Given the description of an element on the screen output the (x, y) to click on. 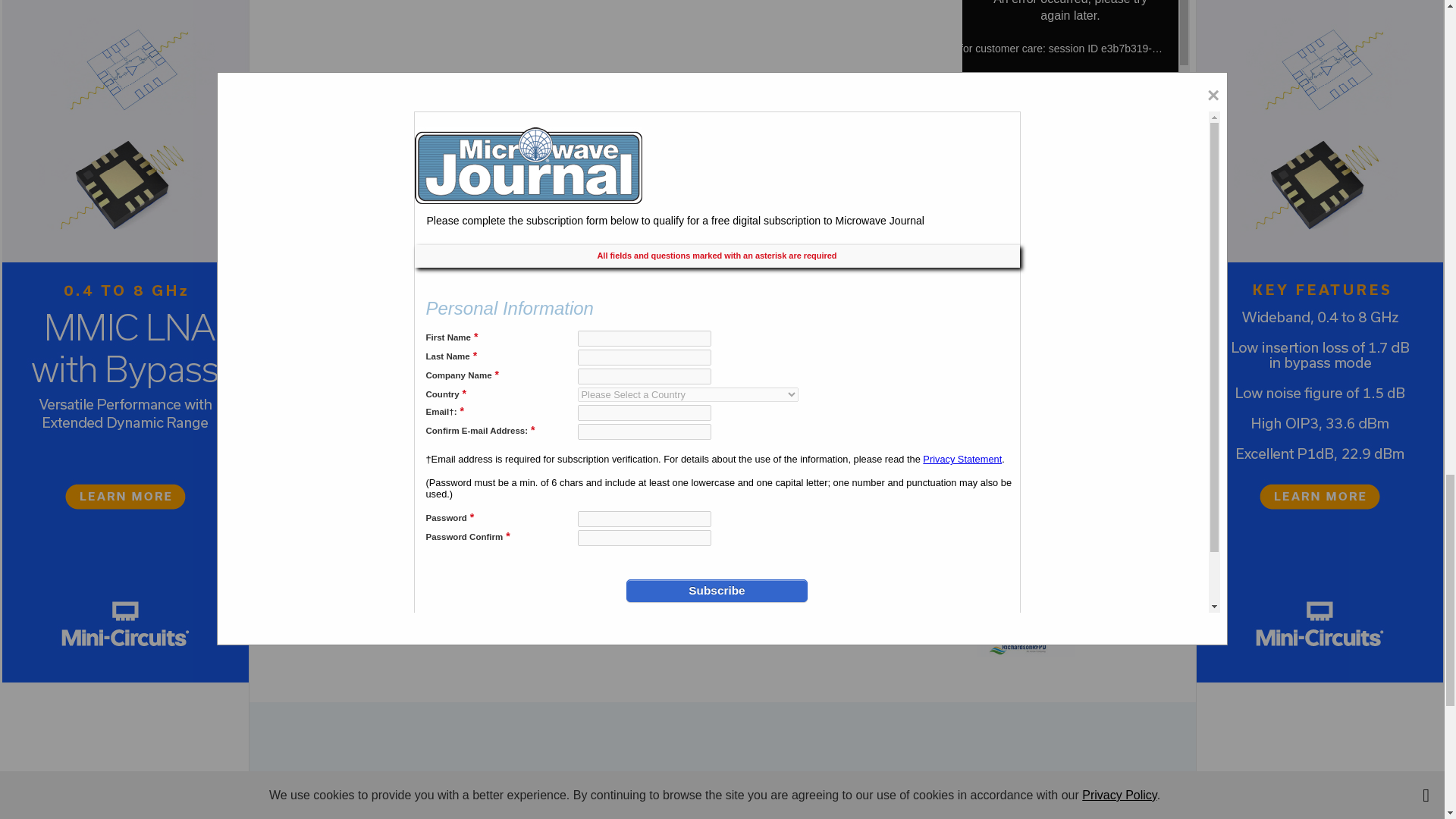
richardson-2-29-24wjt.jpg (1025, 610)
50P-2089 SMAwjt.jpg (1025, 374)
krytar-6-26-24.jpg (1025, 261)
3rd party ad content (721, 755)
200x200 AMP 2123P-4KW No-Cost eNewsletter Promotion-6-3.jpg (1025, 505)
